Given the description of an element on the screen output the (x, y) to click on. 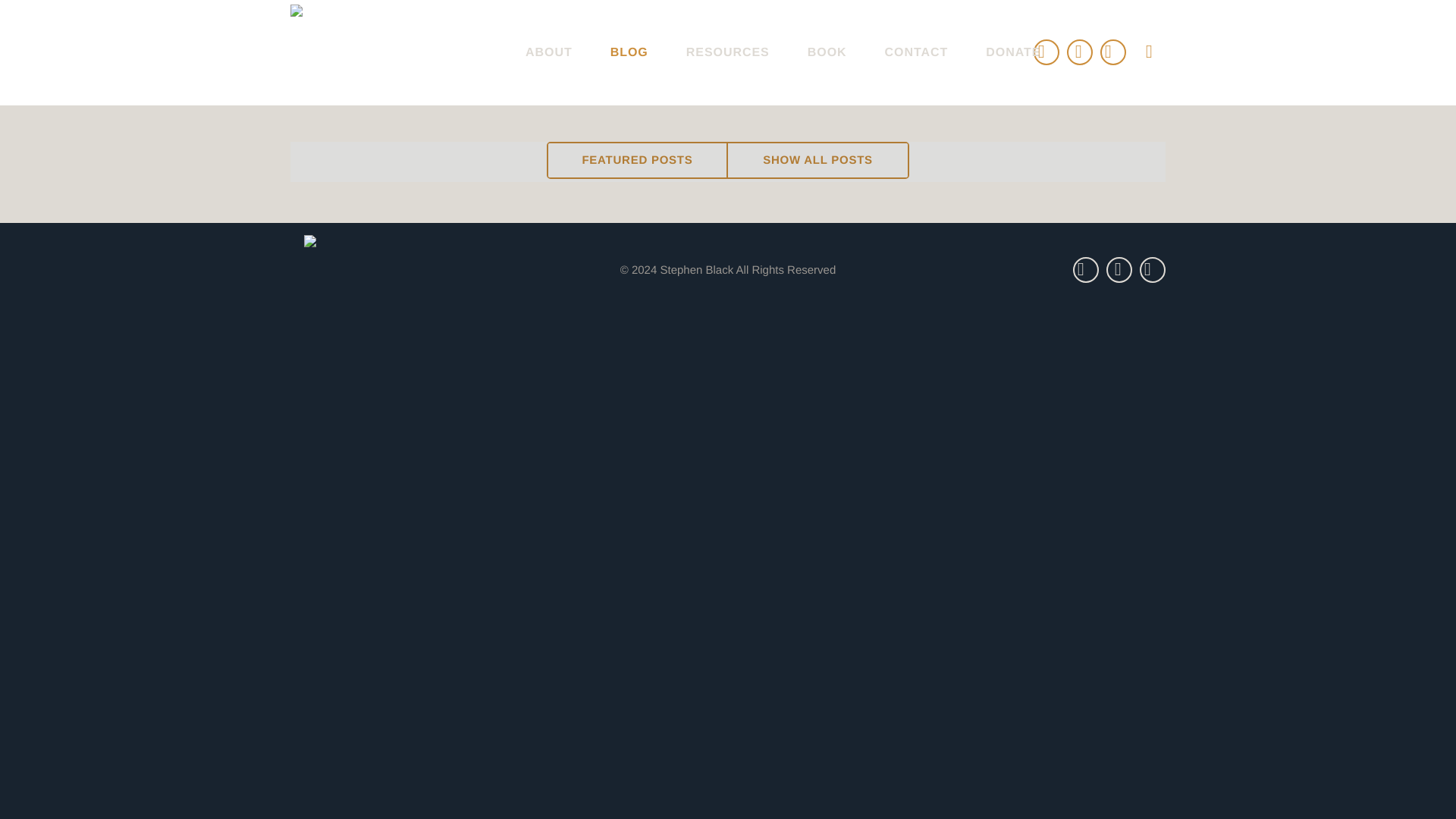
CONTACT (917, 51)
BOOK (827, 51)
DONATE (1013, 51)
RESOURCES (727, 51)
BLOG (628, 51)
ABOUT (548, 51)
